Given the description of an element on the screen output the (x, y) to click on. 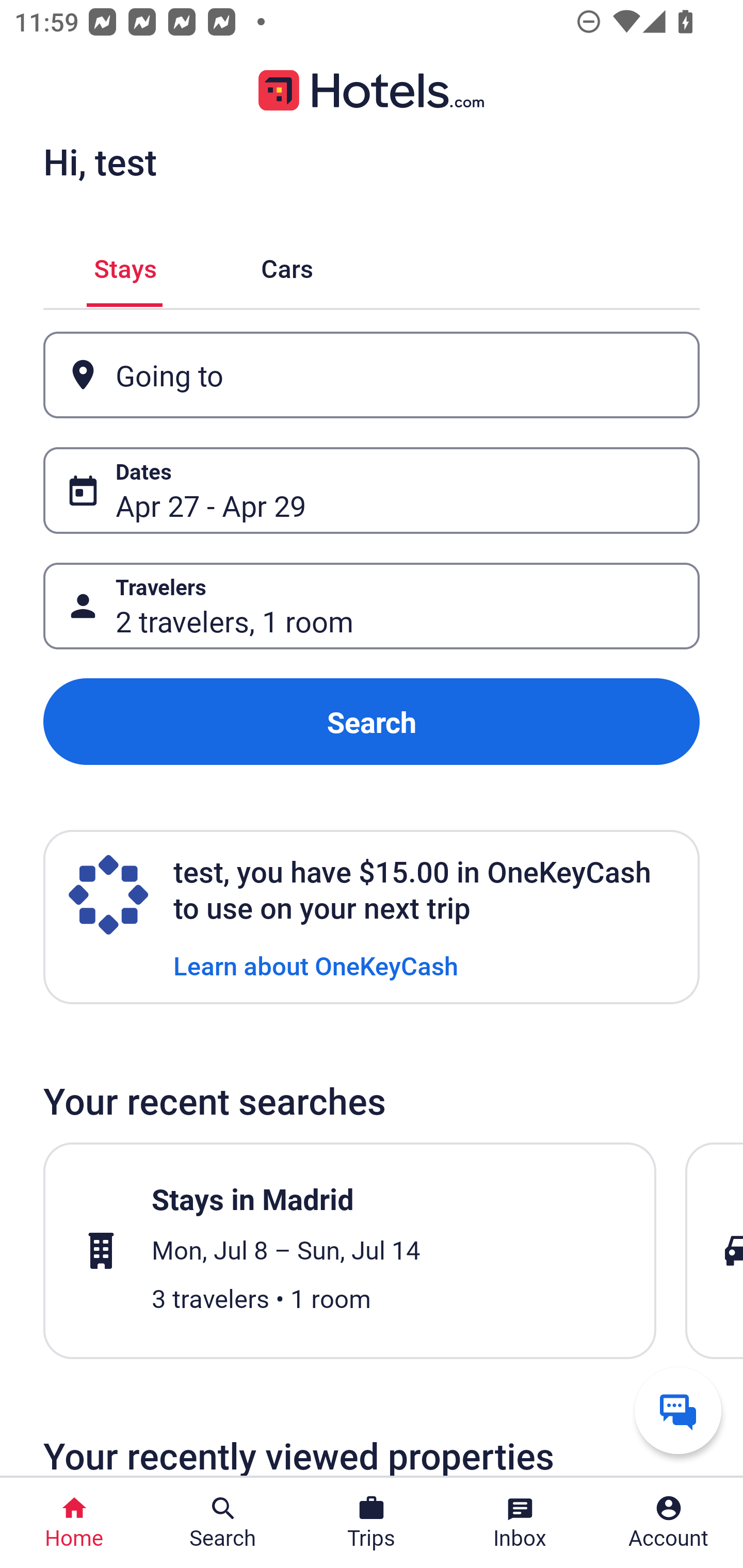
Hi, test (99, 161)
Cars (286, 265)
Going to Button (371, 375)
Dates Button Apr 27 - Apr 29 (371, 489)
Travelers Button 2 travelers, 1 room (371, 605)
Search (371, 721)
Learn about OneKeyCash Learn about OneKeyCash Link (315, 964)
Get help from a virtual agent (677, 1410)
Search Search Button (222, 1522)
Trips Trips Button (371, 1522)
Inbox Inbox Button (519, 1522)
Account Profile. Button (668, 1522)
